Given the description of an element on the screen output the (x, y) to click on. 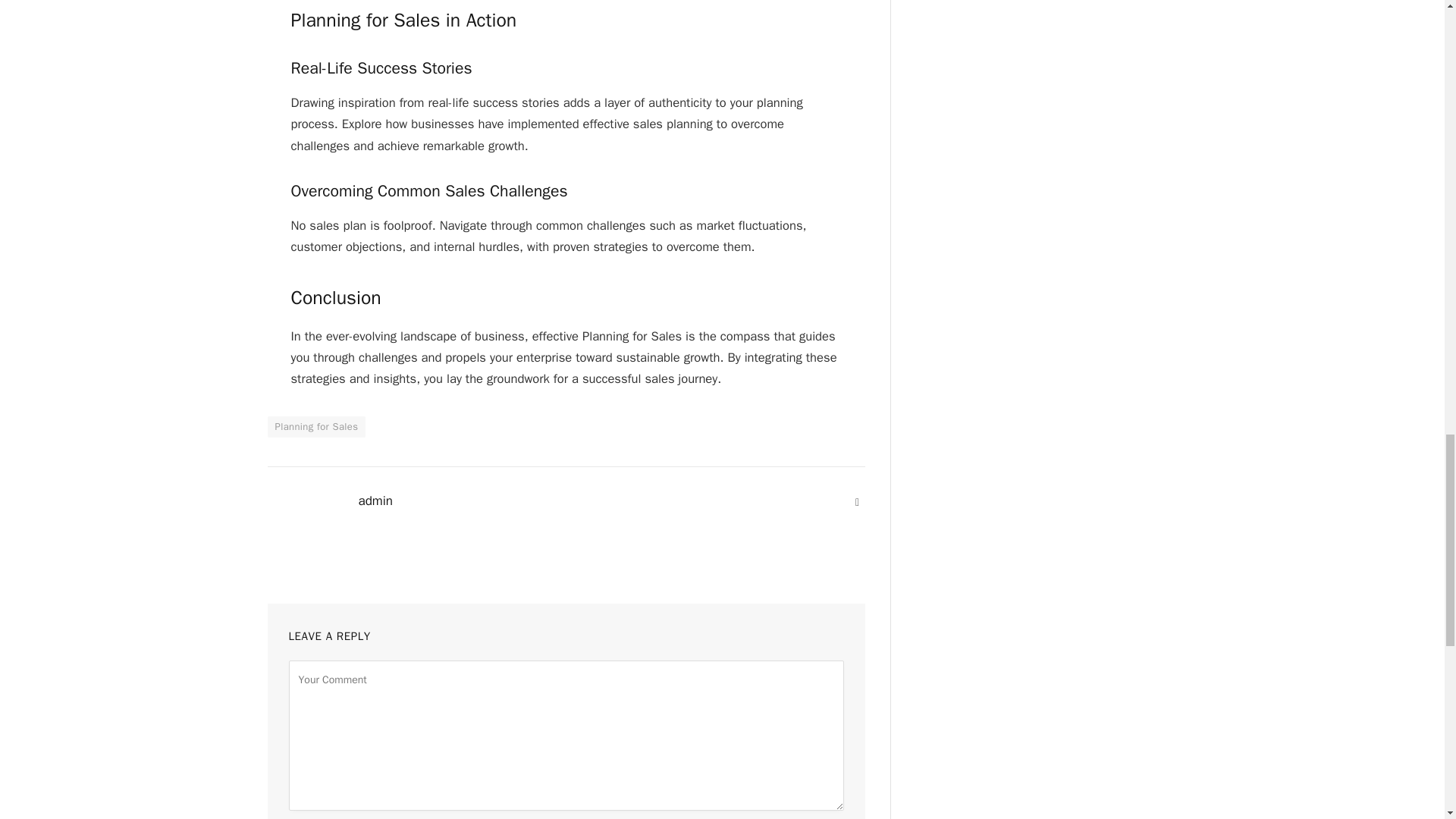
Posts by admin (375, 500)
admin (375, 500)
Planning for Sales (315, 426)
Website (856, 502)
Website (856, 502)
